Given the description of an element on the screen output the (x, y) to click on. 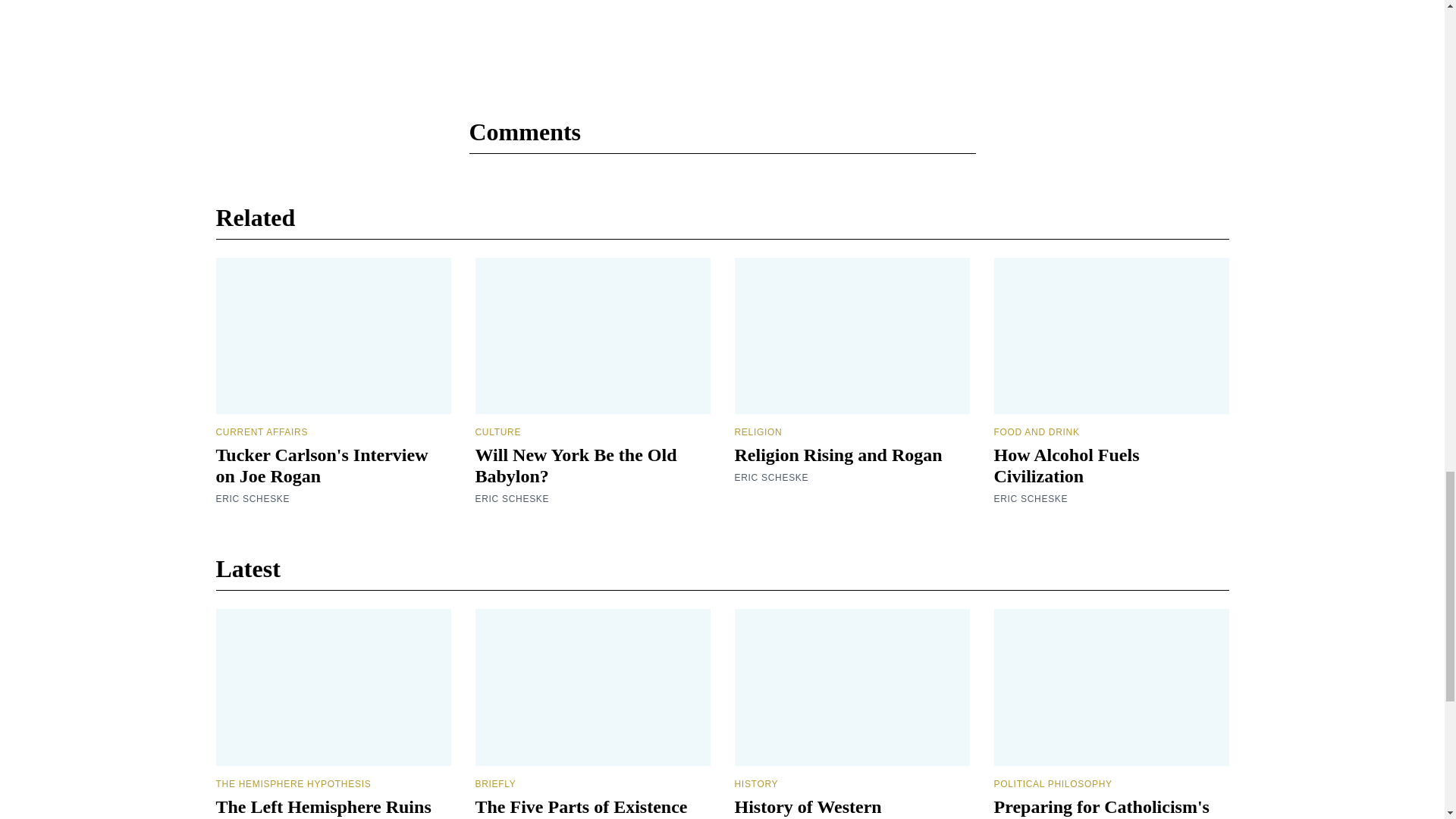
Will New York Be the Old Babylon? (575, 465)
How Alcohol Fuels Civilization (1065, 465)
ERIC SCHESKE (252, 499)
RELIGION (757, 431)
ERIC SCHESKE (1029, 499)
CULTURE (497, 431)
ERIC SCHESKE (511, 499)
CURRENT AFFAIRS (261, 431)
Tucker Carlson's Interview on Joe Rogan (321, 465)
ERIC SCHESKE (770, 477)
Religion Rising and Rogan (837, 455)
Joe Rogan Destroys Religious Fundamentalism in Epic Rant (721, 45)
FOOD AND DRINK (1035, 431)
